Given the description of an element on the screen output the (x, y) to click on. 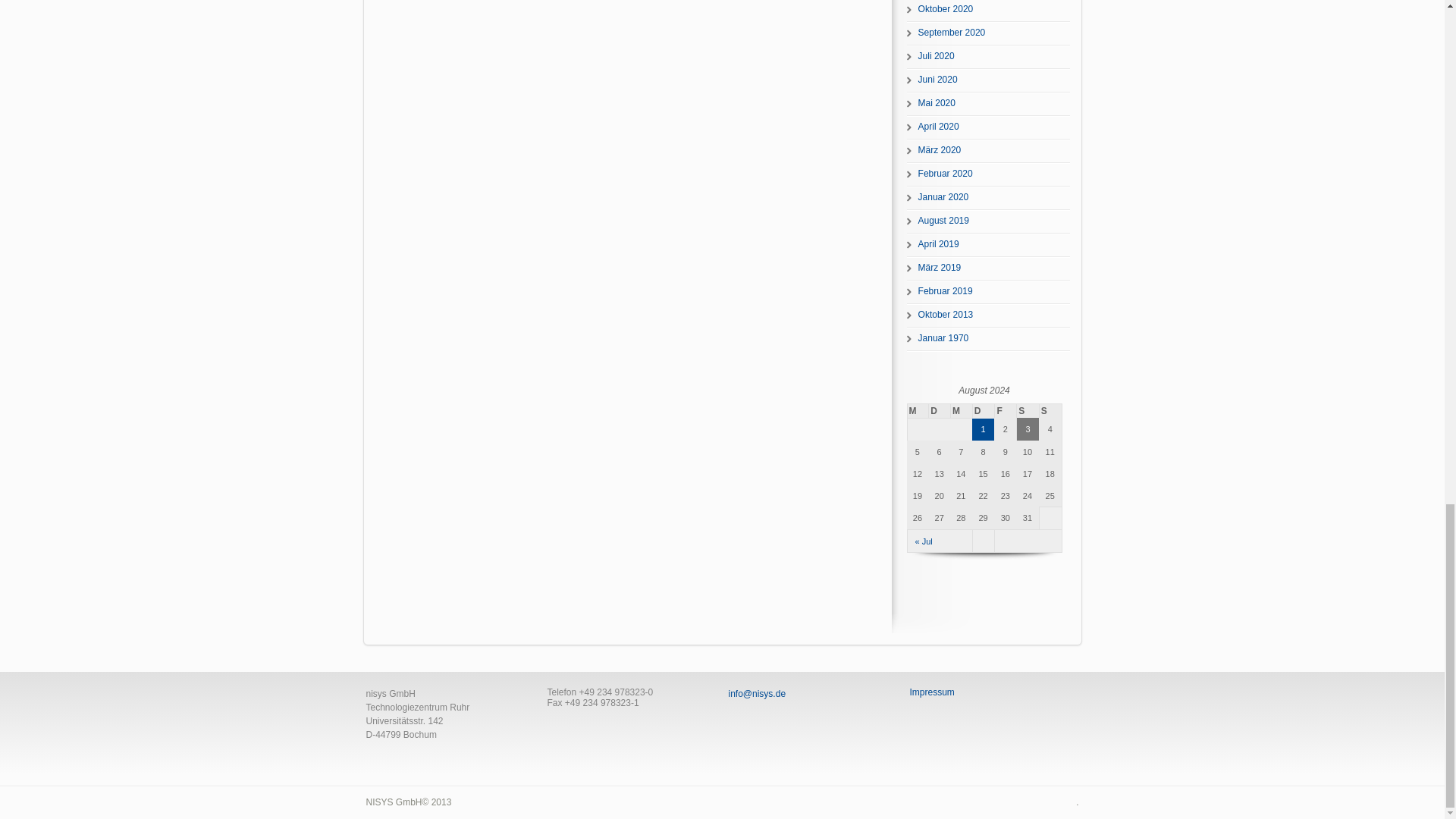
Sonntag (1050, 410)
Mittwoch (961, 410)
Dienstag (939, 410)
Freitag (1005, 410)
Samstag (1027, 410)
Montag (917, 410)
Donnerstag (983, 410)
